Given the description of an element on the screen output the (x, y) to click on. 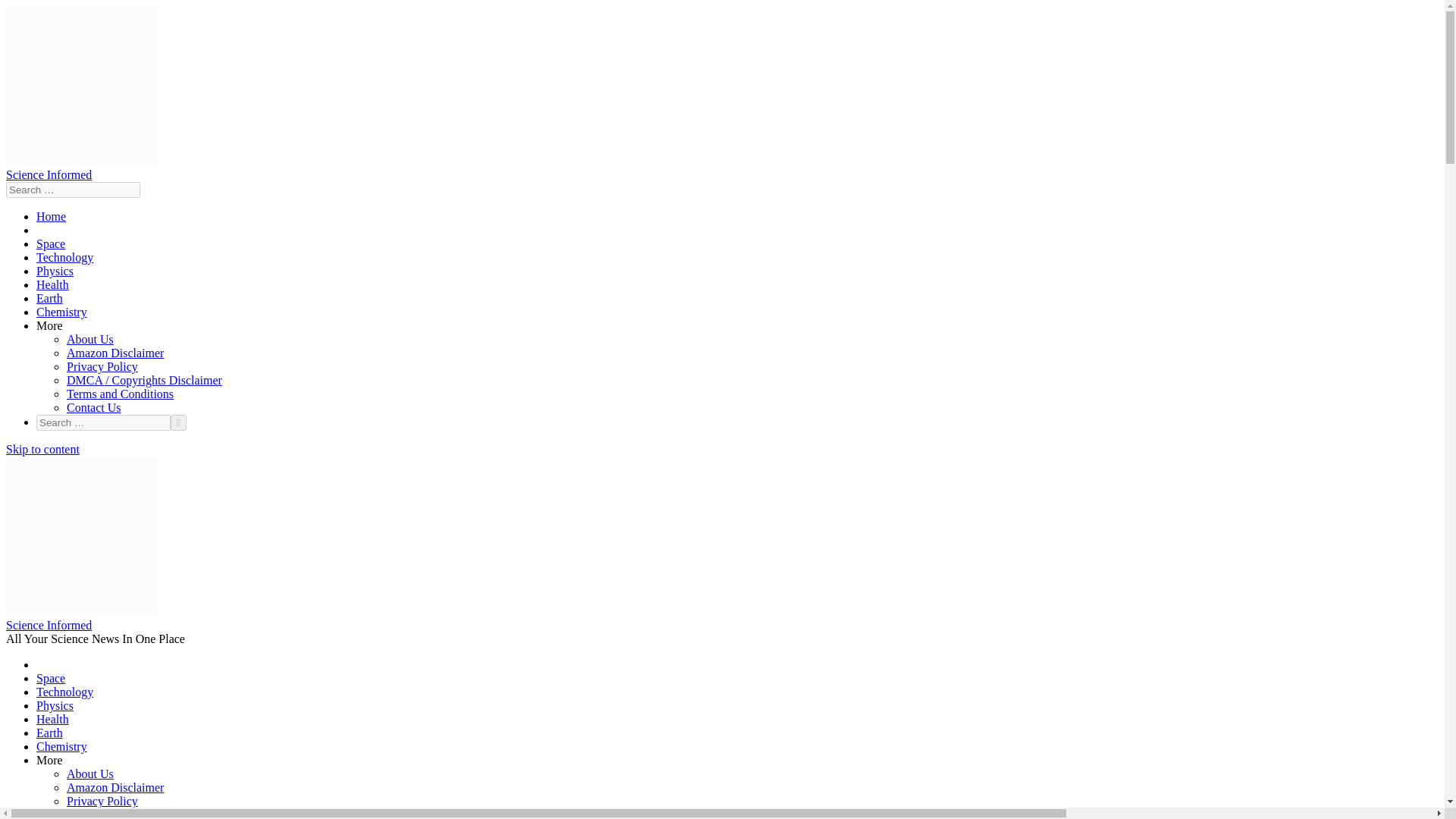
Physics (55, 705)
Health (52, 718)
Privacy Policy (102, 366)
Physics (55, 270)
Home (50, 215)
Privacy Policy (102, 800)
About Us (89, 338)
Space (50, 243)
Contact Us (93, 407)
Science Informed (48, 174)
